Given the description of an element on the screen output the (x, y) to click on. 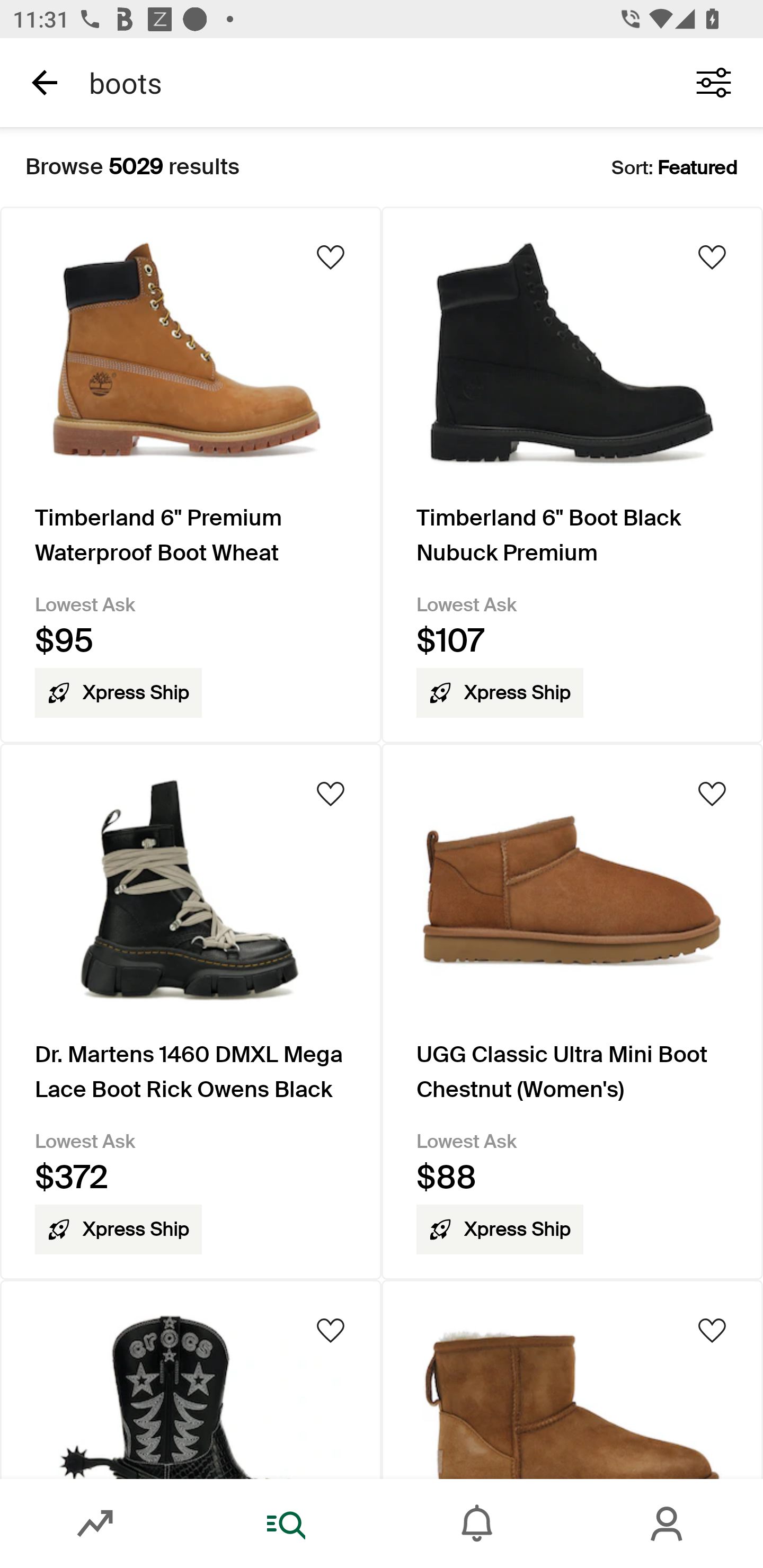
boots (370, 82)
Product Image (190, 1378)
Product Image (572, 1378)
Market (95, 1523)
Inbox (476, 1523)
Account (667, 1523)
